Given the description of an element on the screen output the (x, y) to click on. 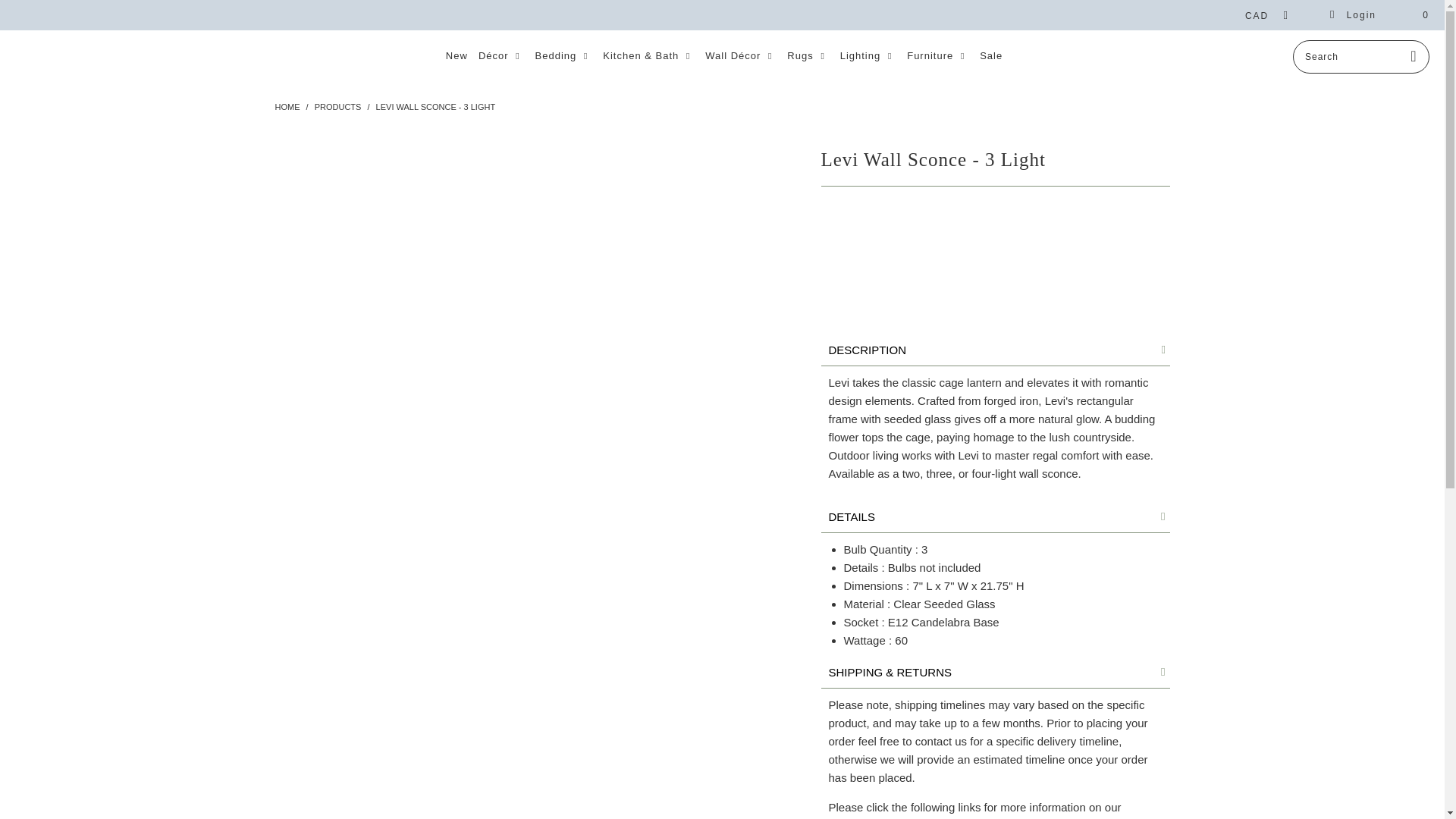
Rainsford Company (287, 106)
My Account  (1352, 15)
Products (337, 106)
